Given the description of an element on the screen output the (x, y) to click on. 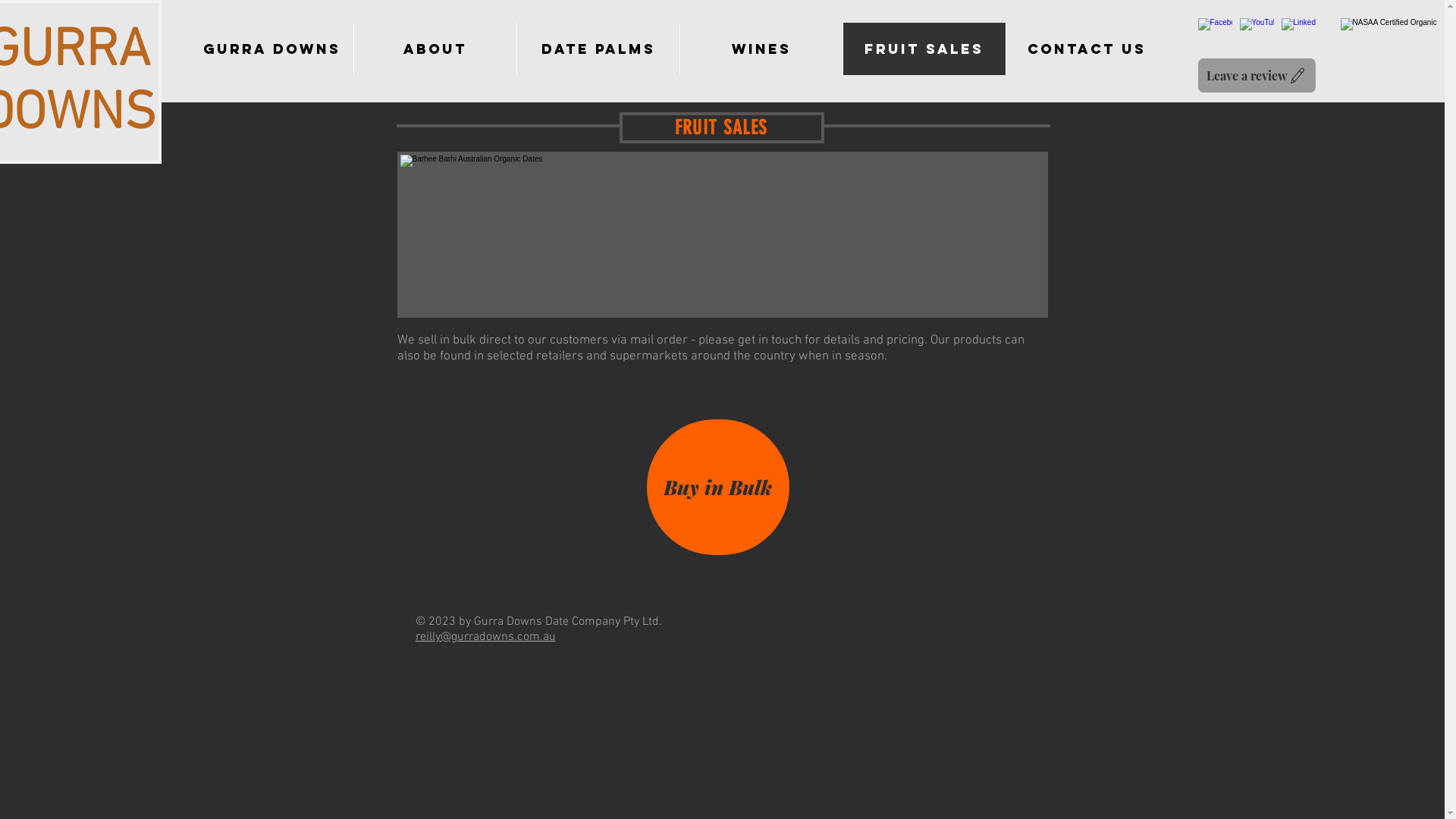
Leave a review Element type: text (1256, 75)
Fruit Sales Element type: text (922, 48)
Wines Element type: text (760, 48)
Contact Us Element type: text (1086, 48)
Gurra Downs Element type: text (270, 48)
reilly@gurradowns.com.au Element type: text (485, 636)
Buy in Bulk Element type: text (717, 487)
